Given the description of an element on the screen output the (x, y) to click on. 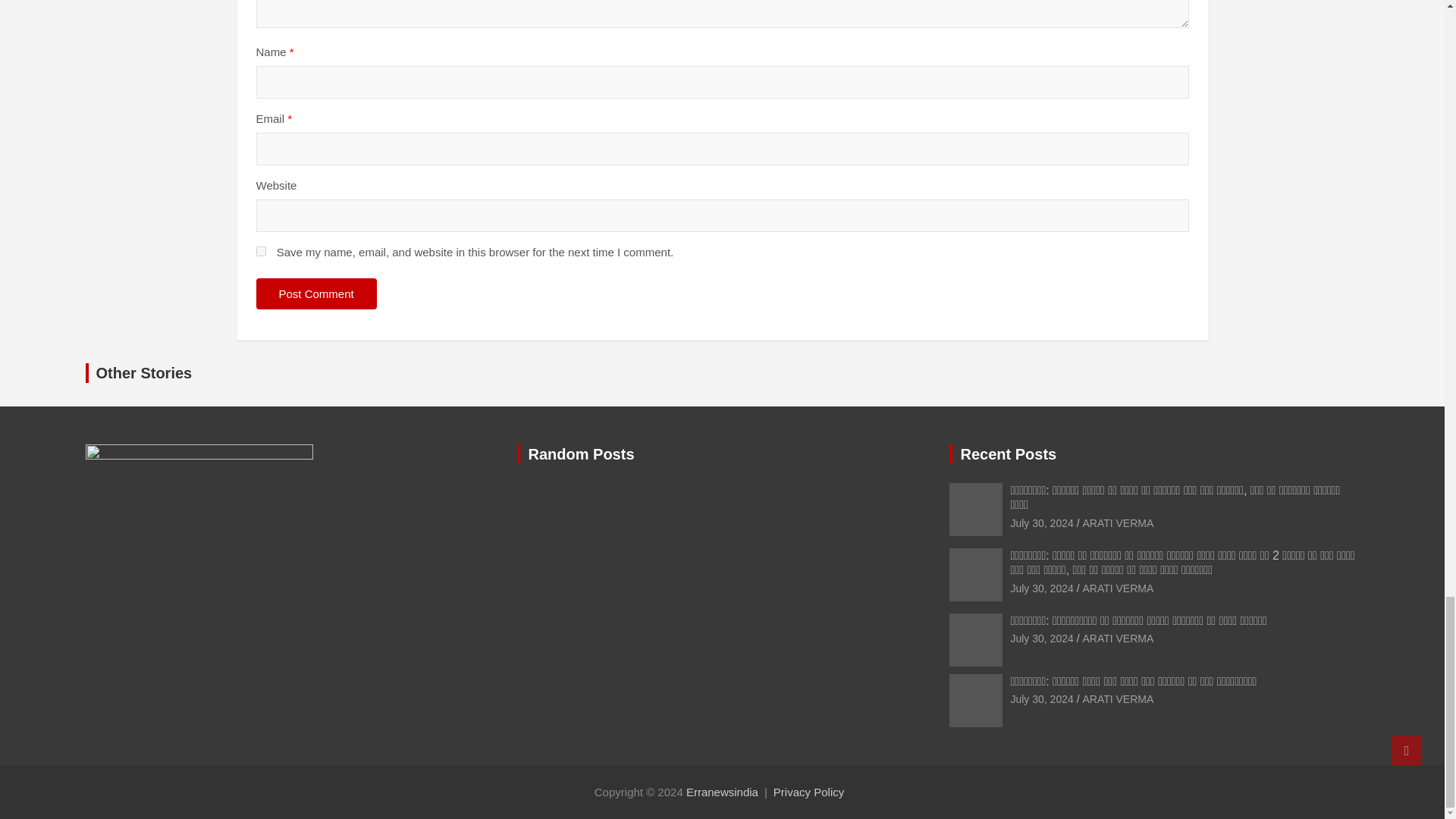
yes (261, 251)
Post Comment (316, 293)
